Given the description of an element on the screen output the (x, y) to click on. 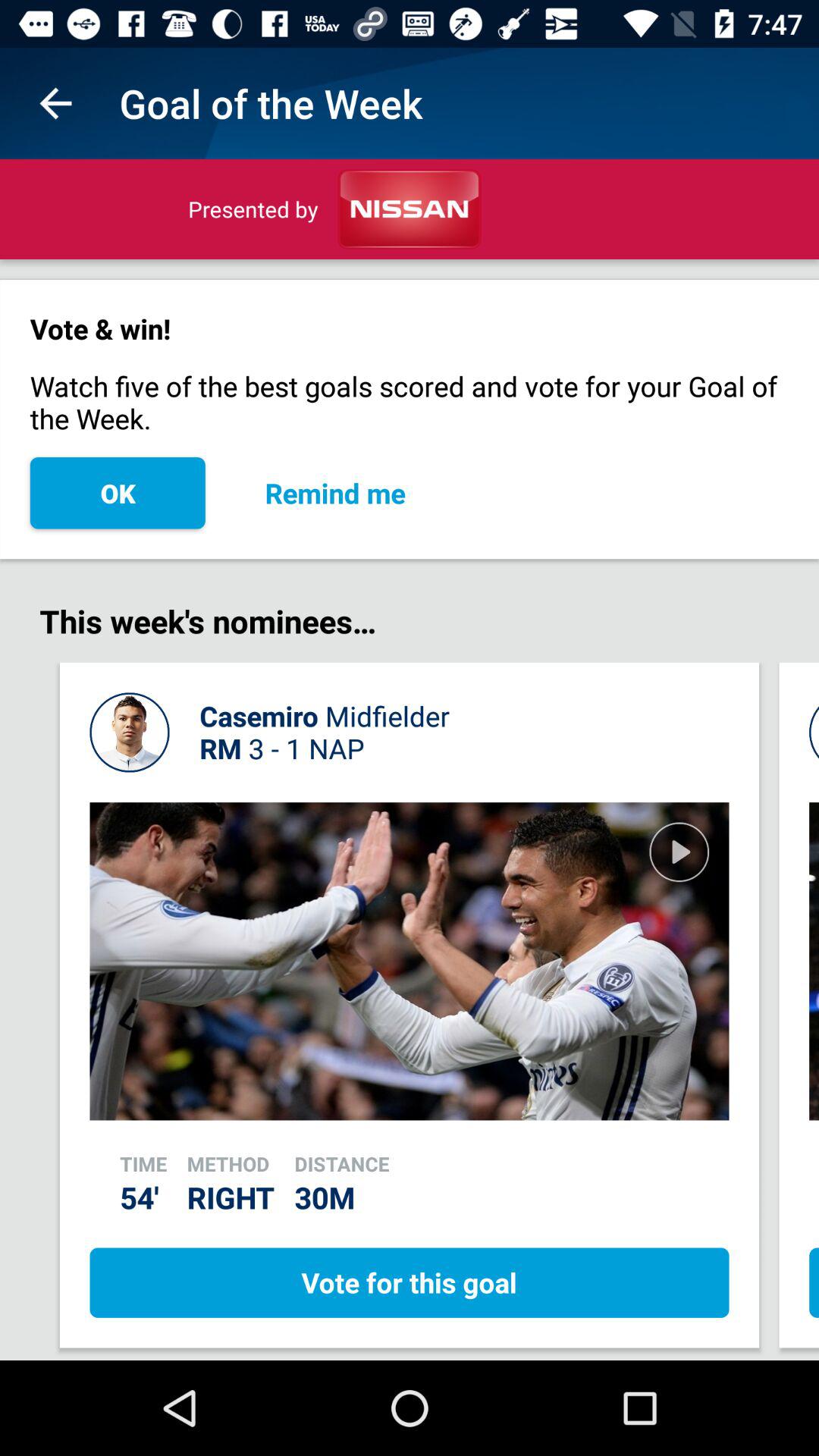
scroll until ok item (117, 492)
